Given the description of an element on the screen output the (x, y) to click on. 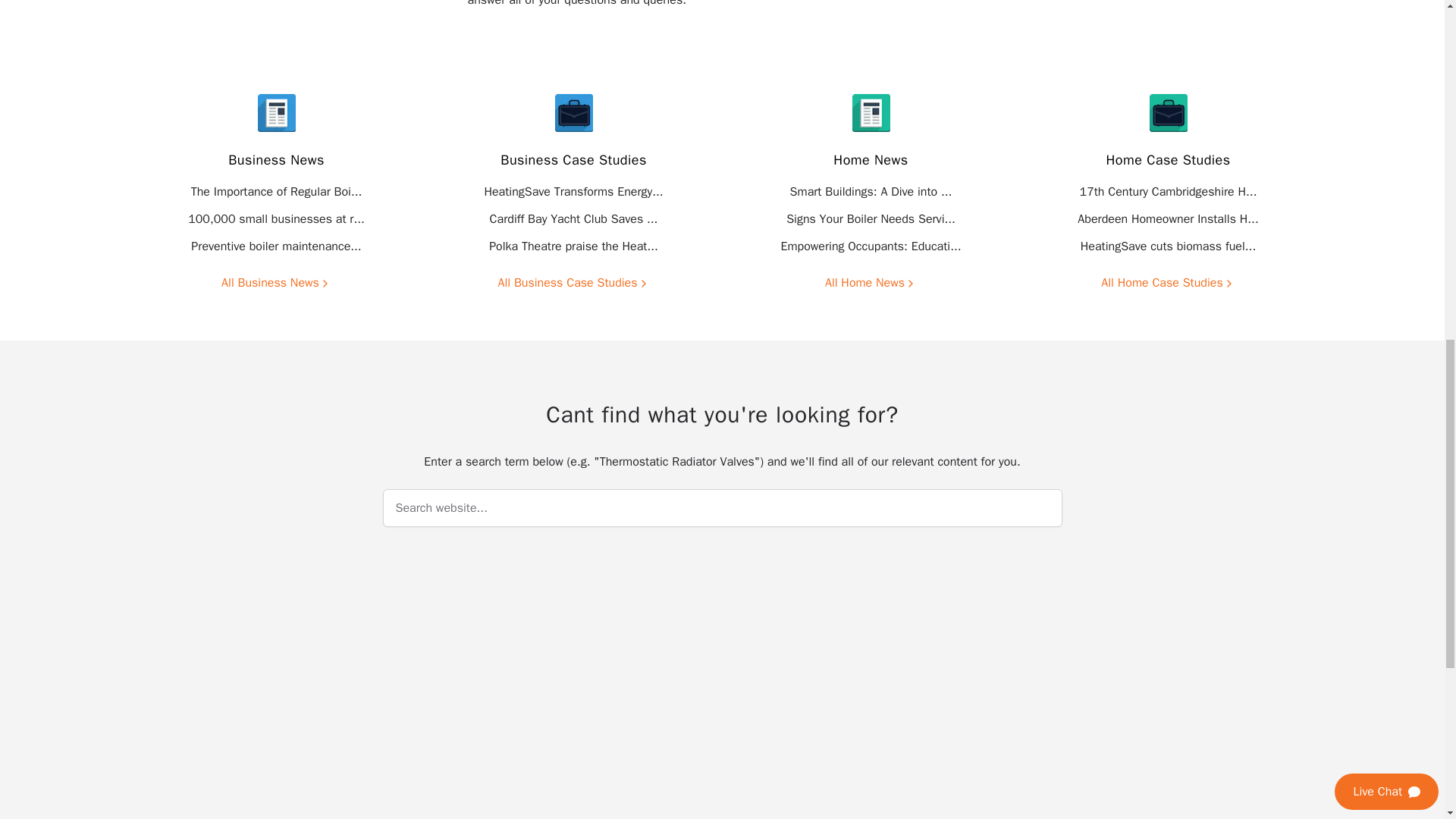
Polka Theatre praise the HeatingSave system  (573, 246)
The Importance of Regular Boiler Service: Why It Matters (276, 191)
